Given the description of an element on the screen output the (x, y) to click on. 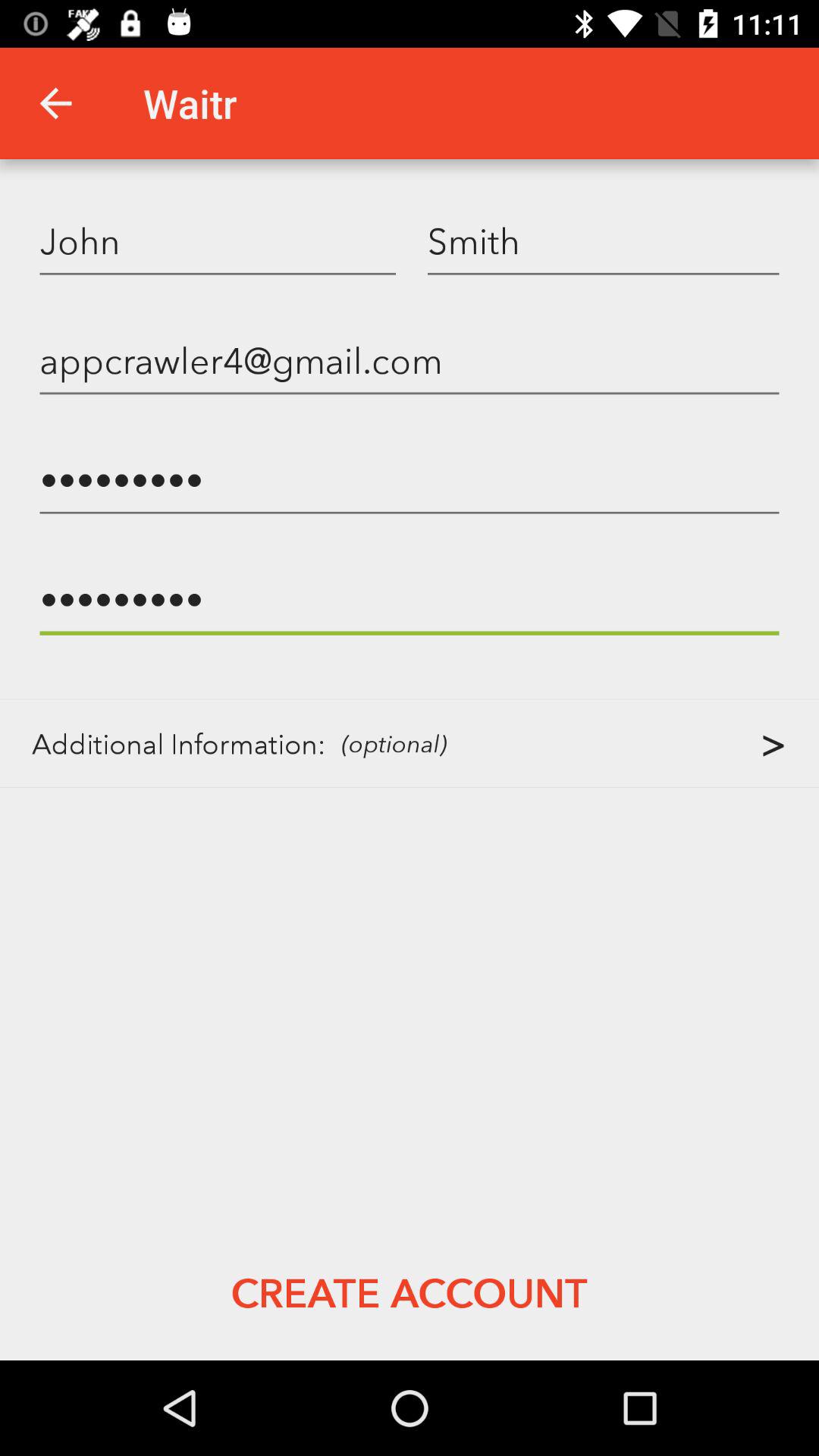
open create account item (408, 1292)
